Given the description of an element on the screen output the (x, y) to click on. 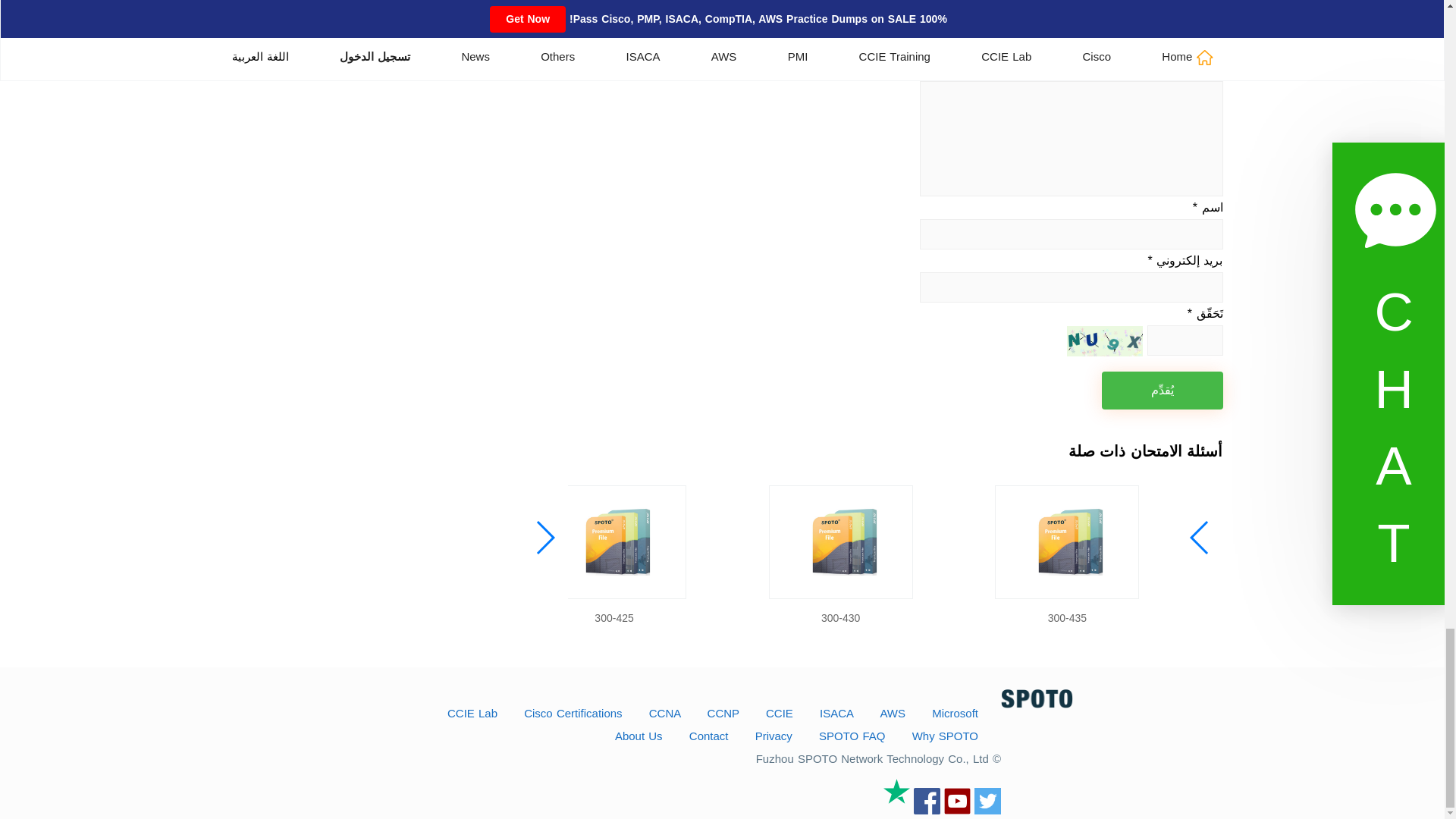
regular (1177, 47)
gorgeous (1138, 47)
poor (1196, 47)
bad (1215, 47)
good (1157, 47)
